Given the description of an element on the screen output the (x, y) to click on. 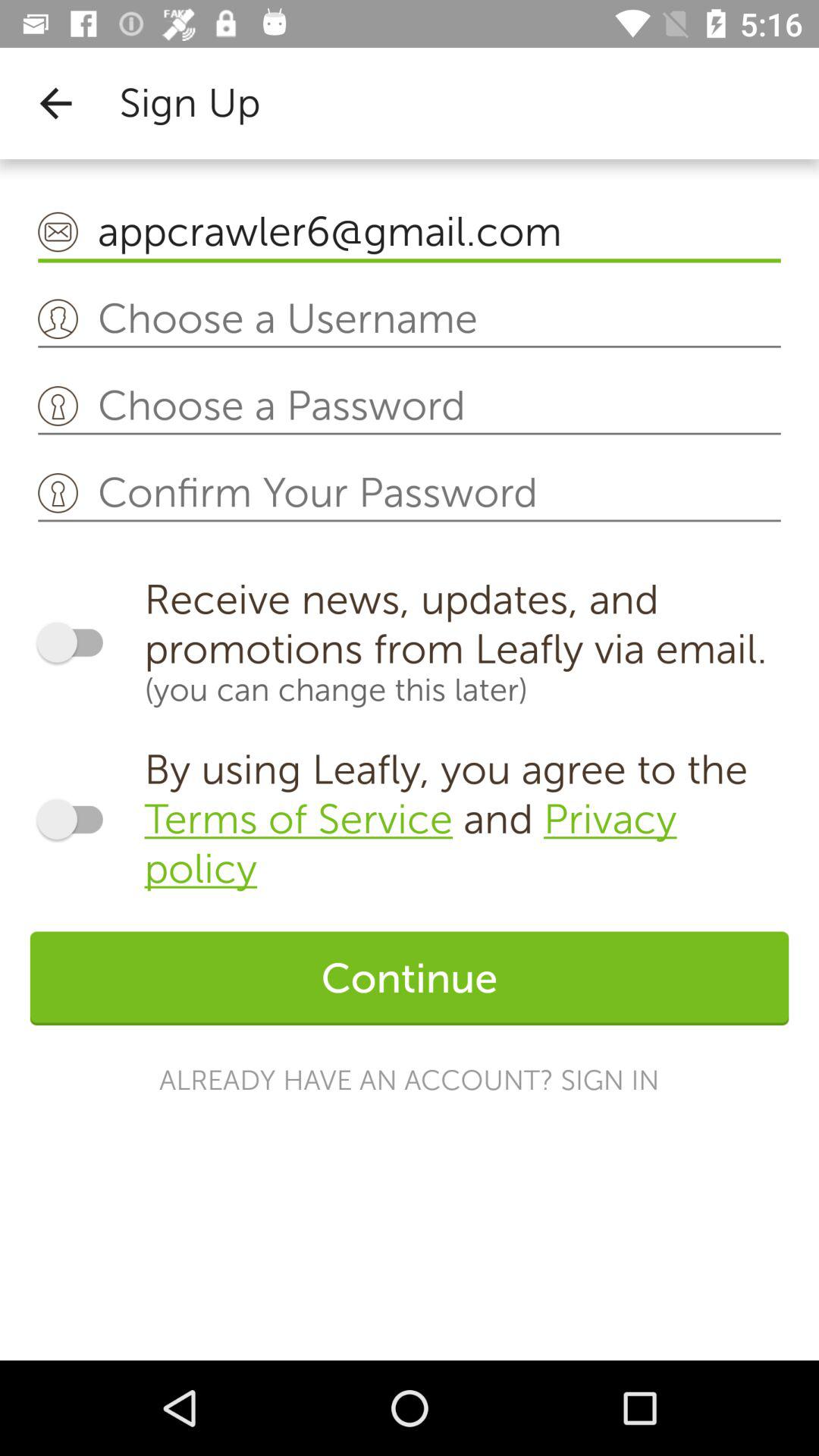
choose the icon below by using leafly (409, 978)
